Given the description of an element on the screen output the (x, y) to click on. 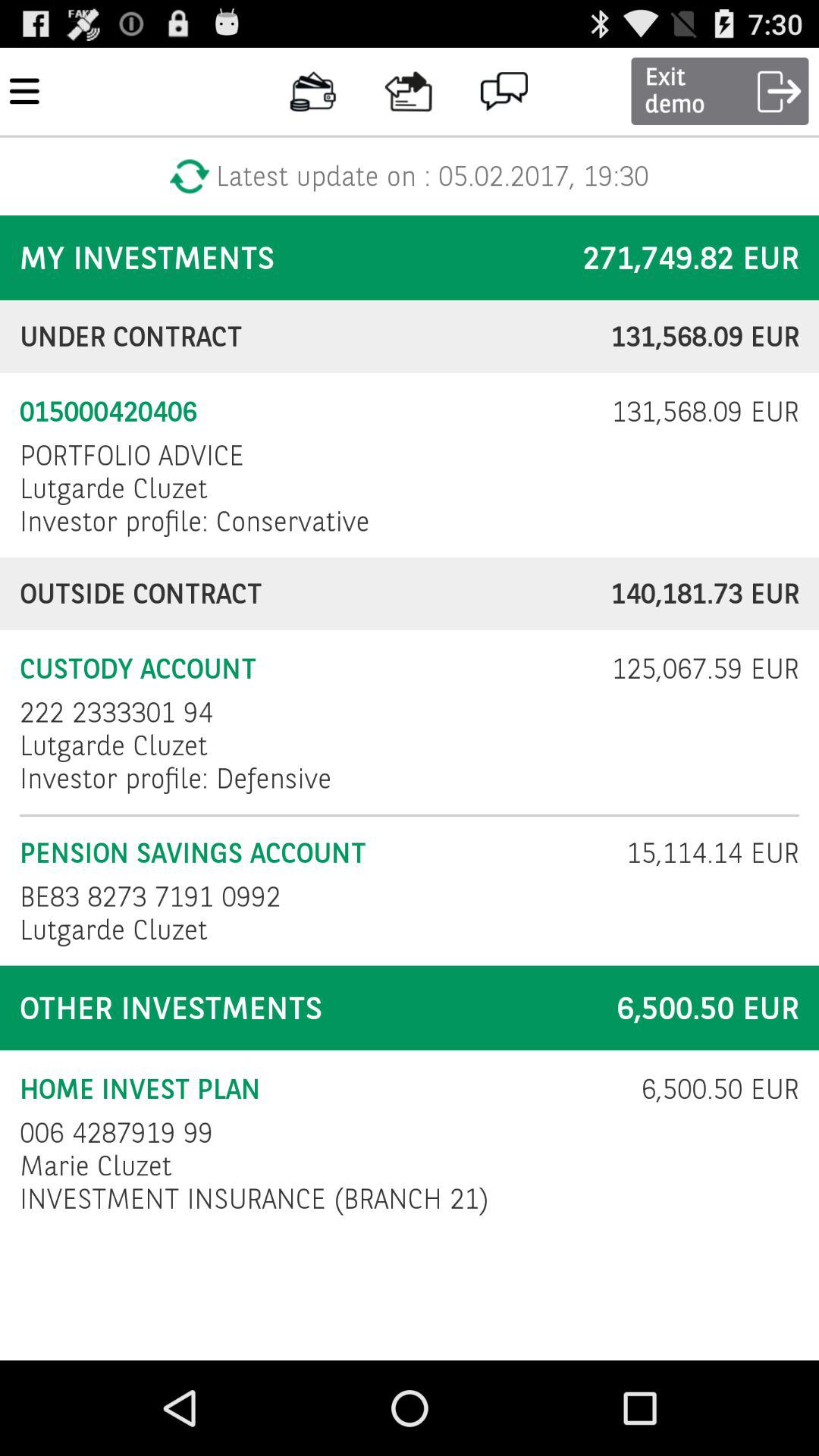
scroll until the other investments item (298, 1008)
